Given the description of an element on the screen output the (x, y) to click on. 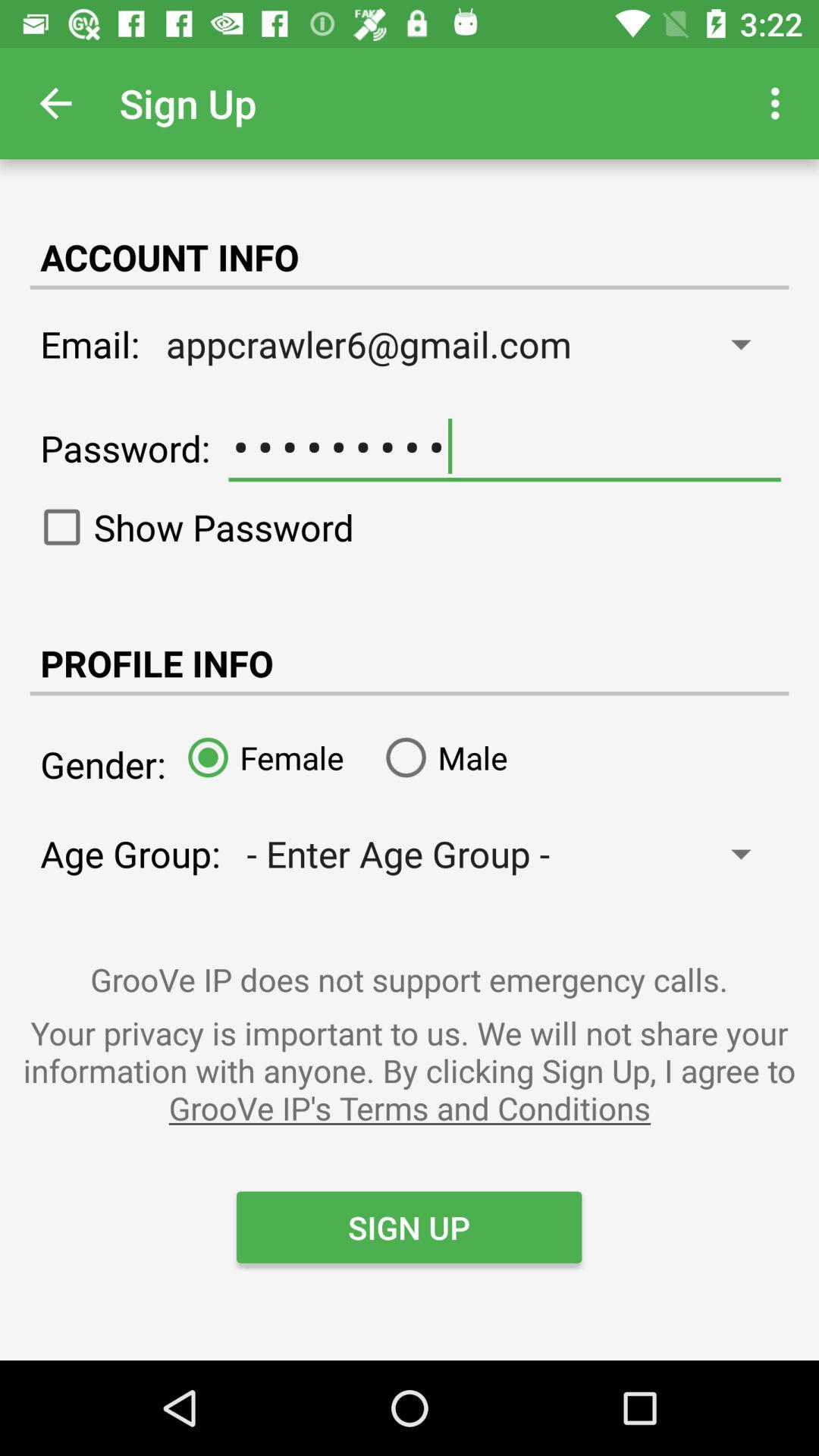
choose item next to the gender: icon (260, 757)
